Given the description of an element on the screen output the (x, y) to click on. 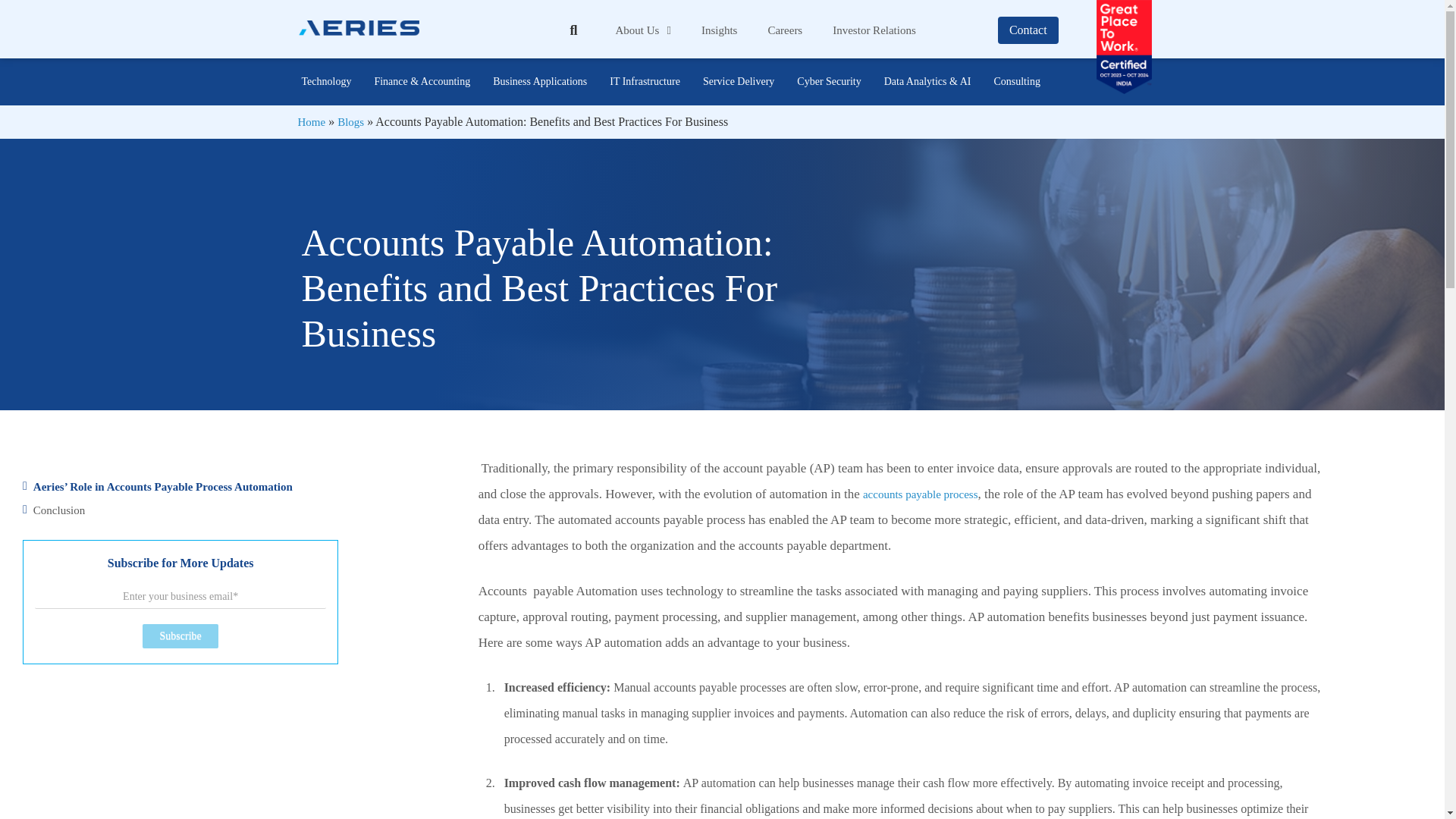
About Us (642, 29)
Insights (718, 29)
Home (310, 121)
Service Delivery (738, 81)
Business Applications (539, 81)
Blogs (350, 121)
Careers (784, 29)
Search (566, 30)
Cyber Security (829, 81)
Contact (1027, 30)
Technology (325, 81)
Consulting (1016, 81)
IT Infrastructure (644, 81)
Investor Relations (873, 29)
